Given the description of an element on the screen output the (x, y) to click on. 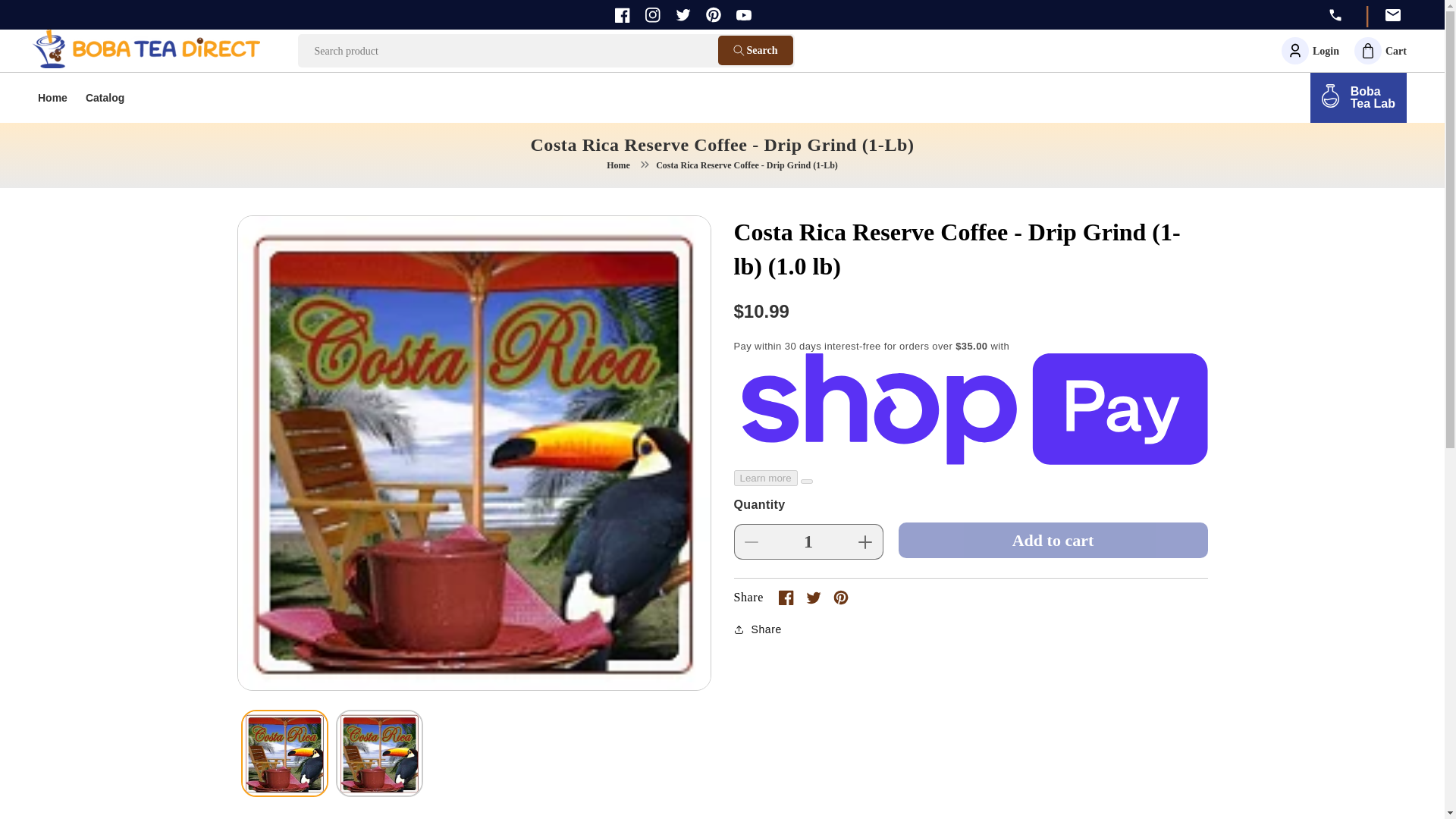
Home (618, 164)
Twitter (682, 14)
Home (53, 97)
Skip to content (45, 17)
Login (1310, 50)
Search (755, 50)
Cart (1358, 97)
1 (1380, 50)
Catalog (808, 541)
YouTube (105, 97)
Instagram (743, 14)
Facebook (653, 14)
Skip to product information (622, 14)
Pinterest (282, 232)
